Given the description of an element on the screen output the (x, y) to click on. 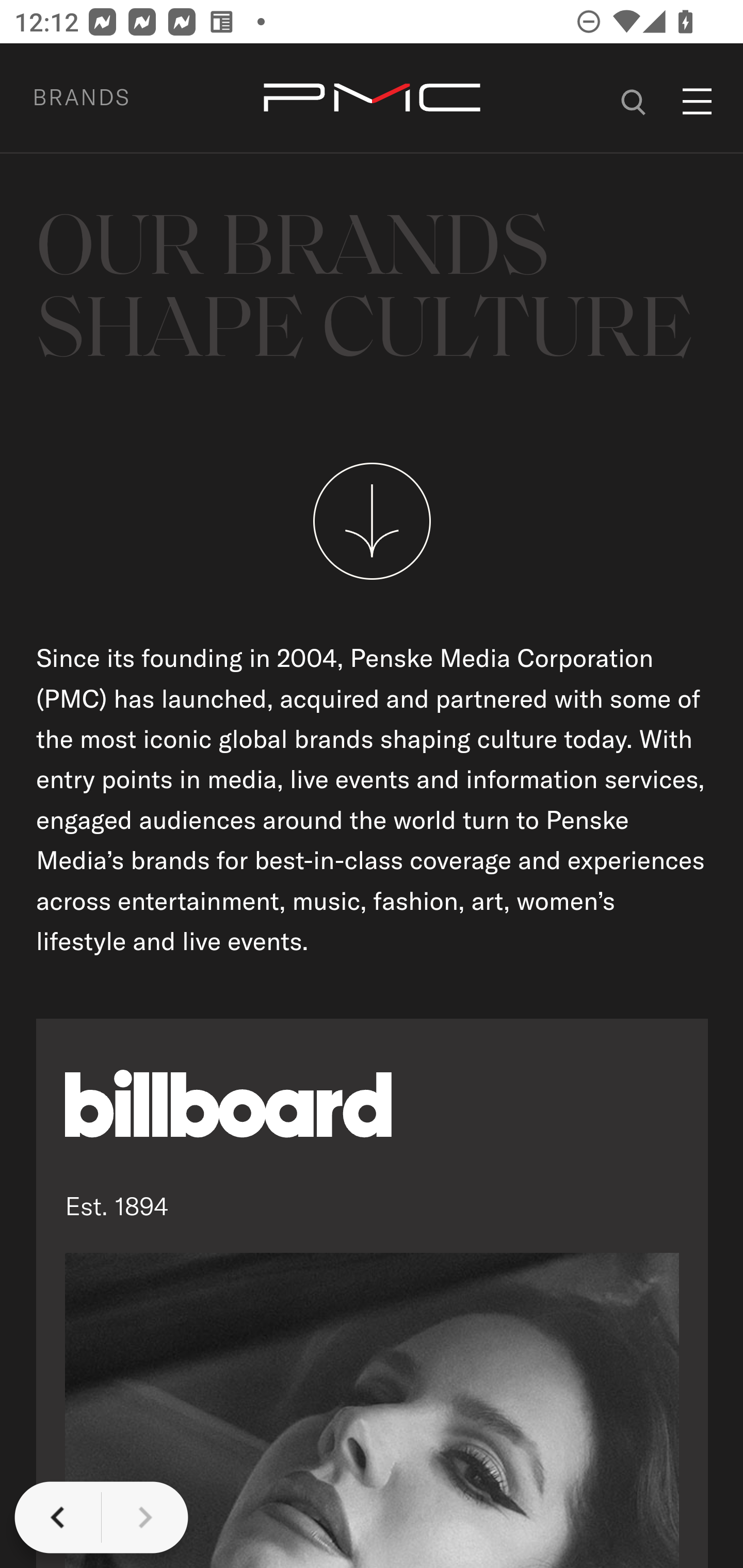
home (371, 98)
BRANDS (105, 96)
# (633, 98)
menu (697, 101)
Est. 1894 Est. 1894 (372, 1292)
